Given the description of an element on the screen output the (x, y) to click on. 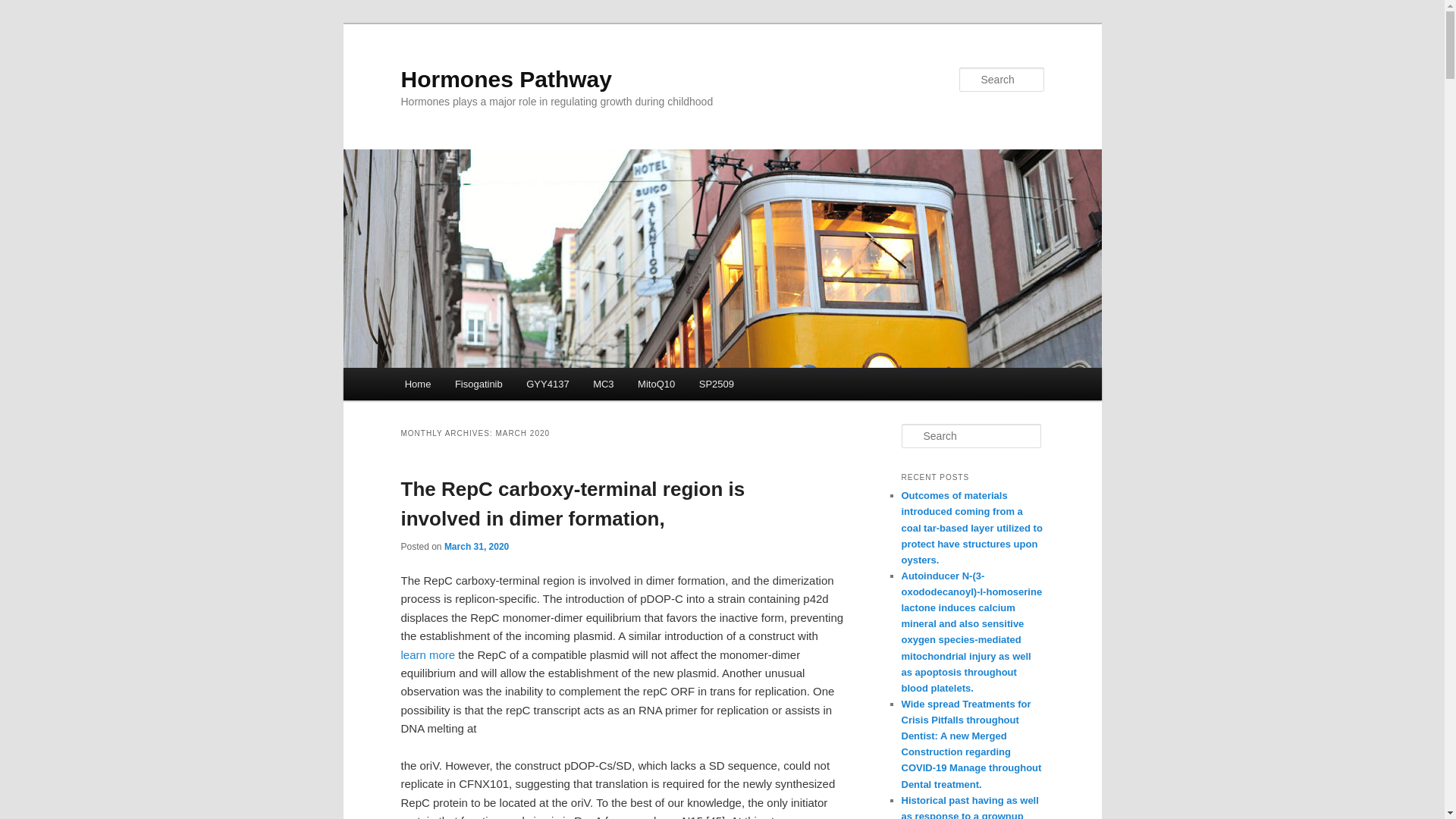
MitoQ10 (656, 383)
Home (417, 383)
MC3 (603, 383)
Fisogatinib (477, 383)
GYY4137 (546, 383)
Skip to secondary content (479, 386)
learn more (427, 654)
Skip to primary content (472, 386)
